Given the description of an element on the screen output the (x, y) to click on. 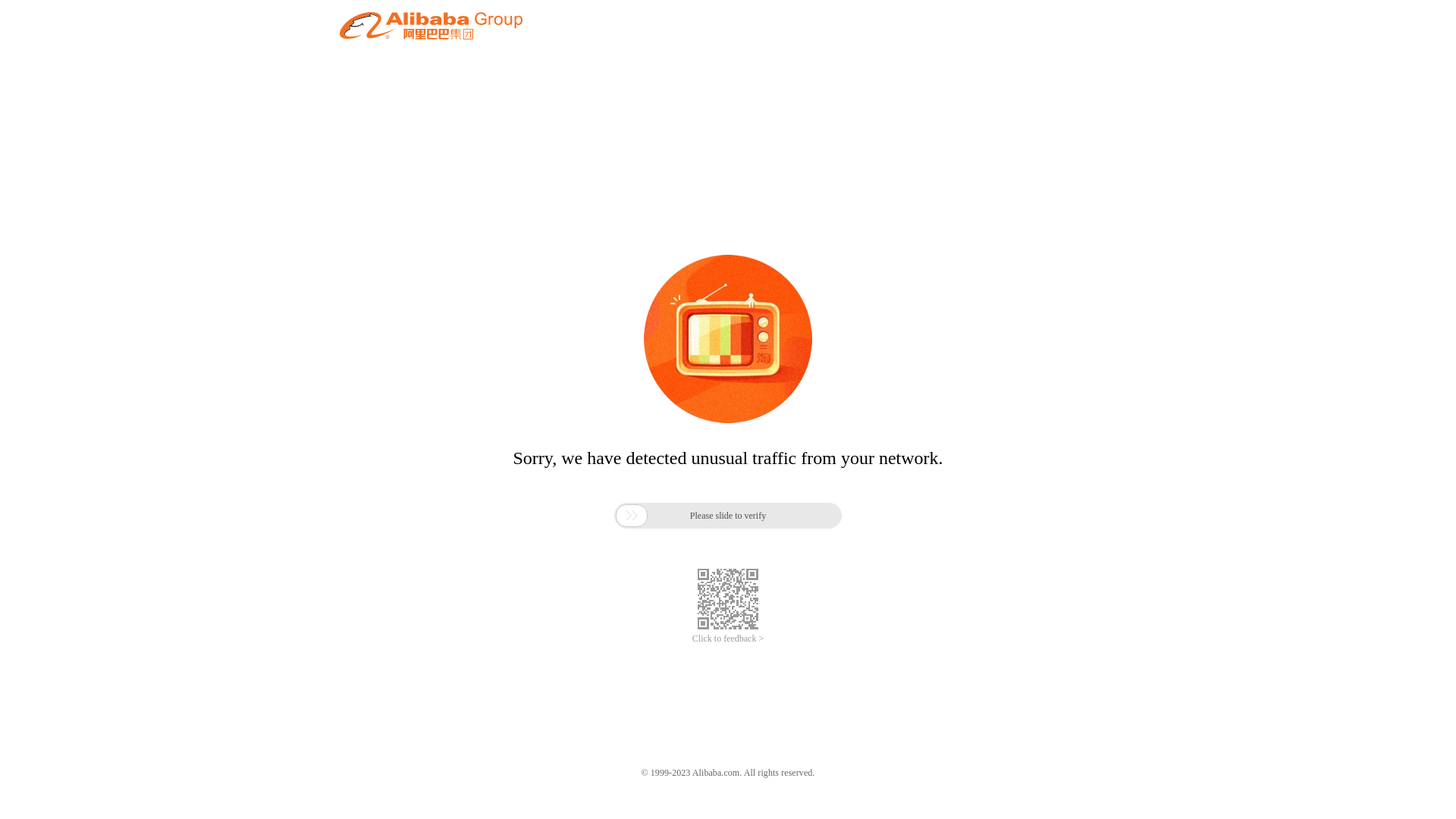
Click to feedback > Element type: text (727, 638)
